Given the description of an element on the screen output the (x, y) to click on. 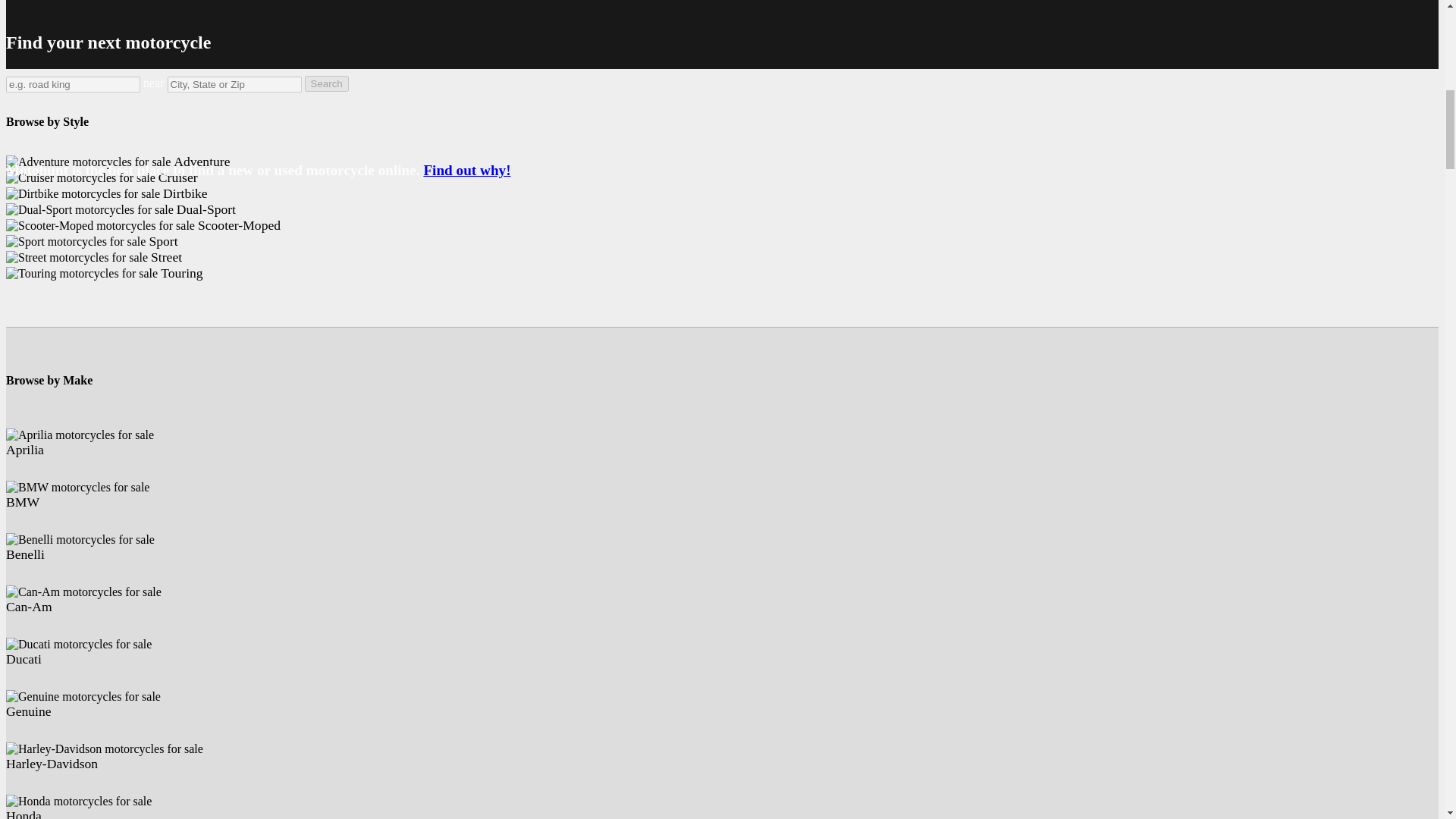
Cruiser motorcycles for sale (101, 177)
Search (326, 83)
Adventure (117, 161)
Sport motorcycles for sale (91, 241)
Scooter-Moped motorcycles for sale (100, 225)
Sport motorcycles for sale (75, 241)
Cruiser (101, 177)
Aprilia (24, 449)
Dual-Sport motorcycles for sale (89, 210)
Dirtbike motorcycles for sale (106, 193)
